Given the description of an element on the screen output the (x, y) to click on. 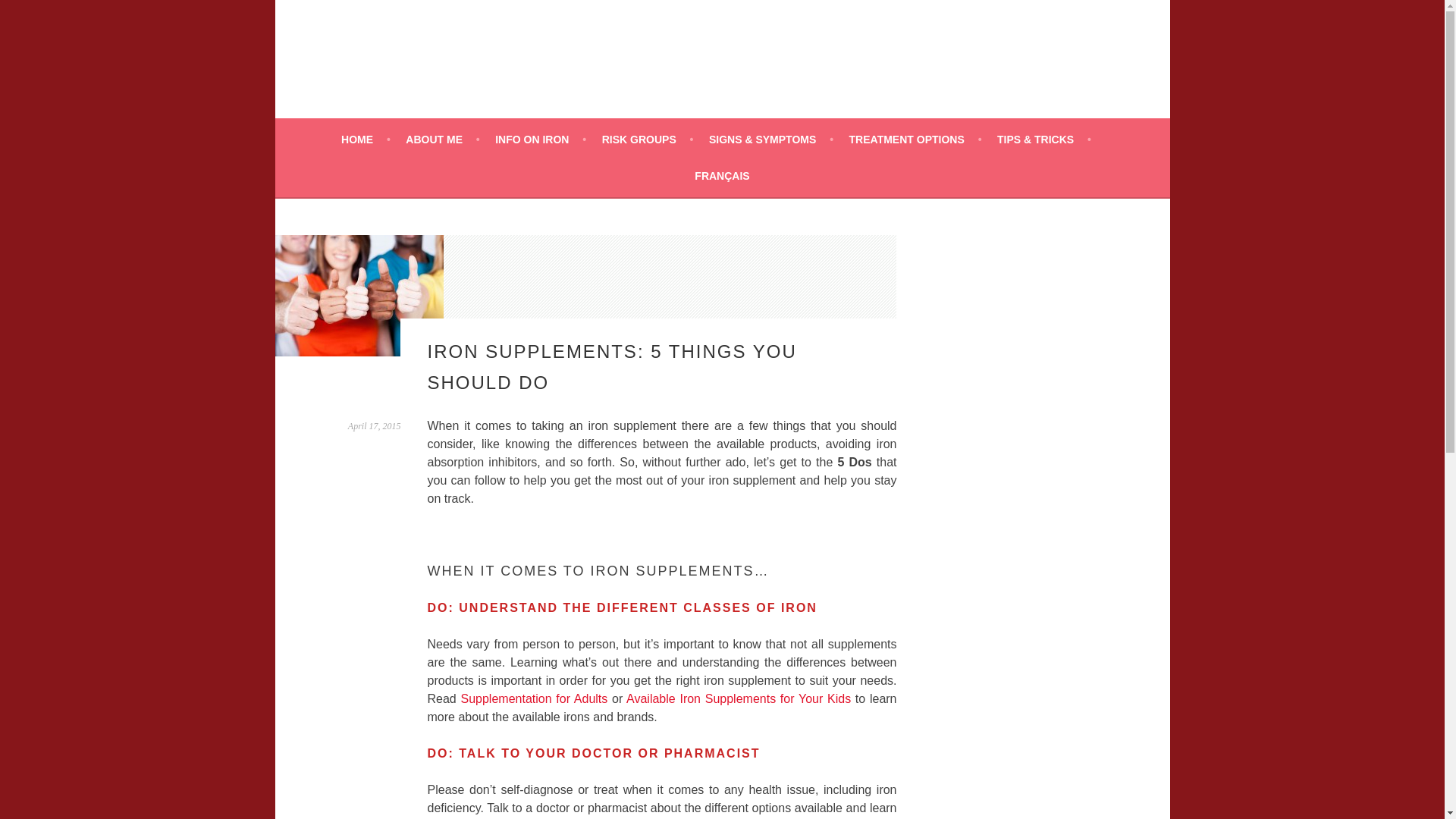
ABOUT ME (442, 139)
RISK GROUPS (648, 139)
Available Iron Supplements for Your Kids (738, 698)
Permalink to Iron Supplements: 5 Things You Should Do (374, 425)
HOME (365, 139)
INFO ON IRON (540, 139)
Available Iron Supplements for Your Kids (738, 698)
April 17, 2015 (374, 425)
Supplementation Options for Adults (533, 698)
TREATMENT OPTIONS (914, 139)
